Given the description of an element on the screen output the (x, y) to click on. 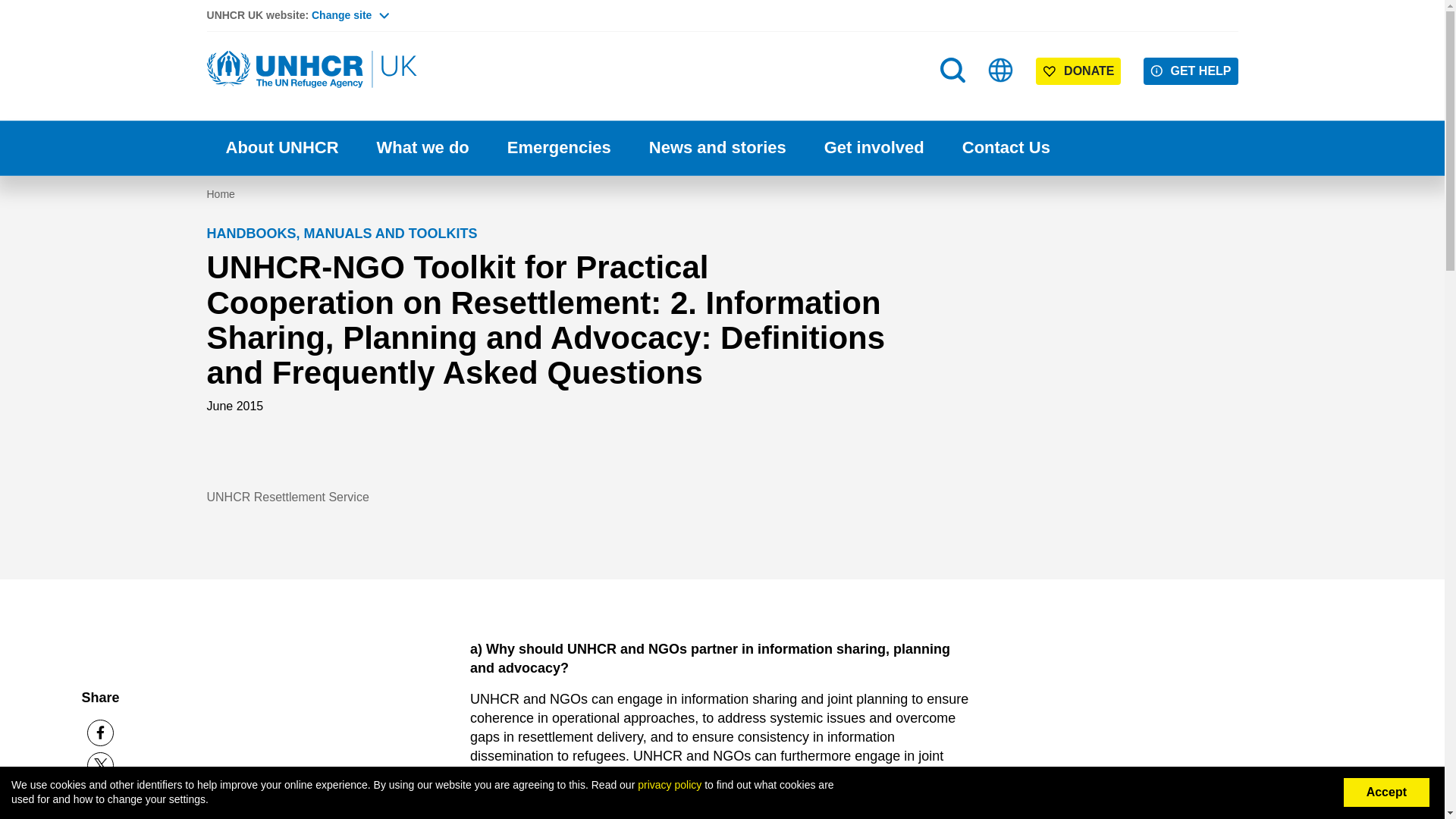
Search (952, 69)
Sites (1000, 69)
Home (312, 69)
Change site (349, 15)
DONATE (1078, 71)
GET HELP (1189, 71)
About UNHCR (281, 148)
Search (954, 99)
Skip to main content (721, 1)
